Given the description of an element on the screen output the (x, y) to click on. 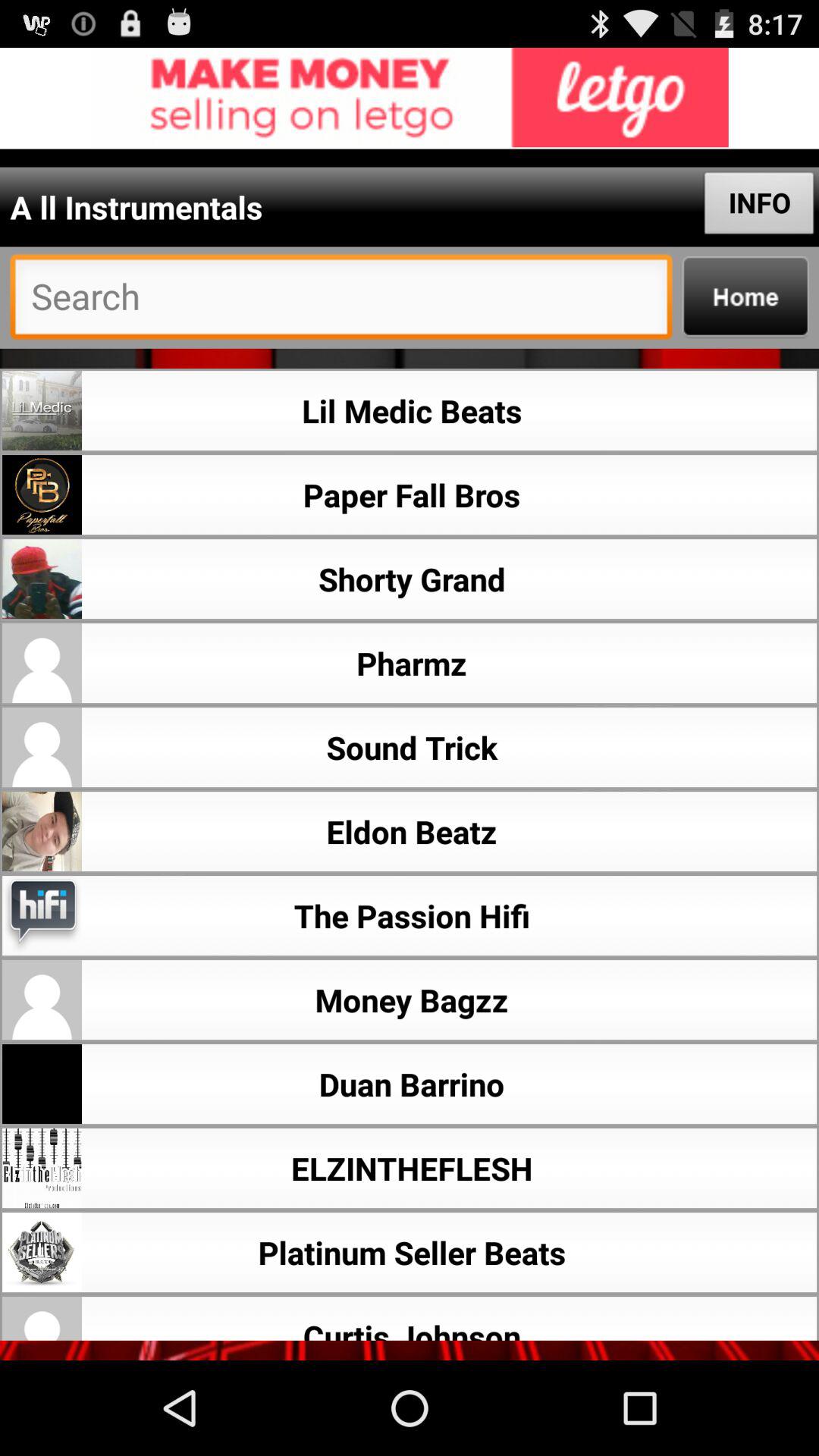
go home (745, 297)
